Given the description of an element on the screen output the (x, y) to click on. 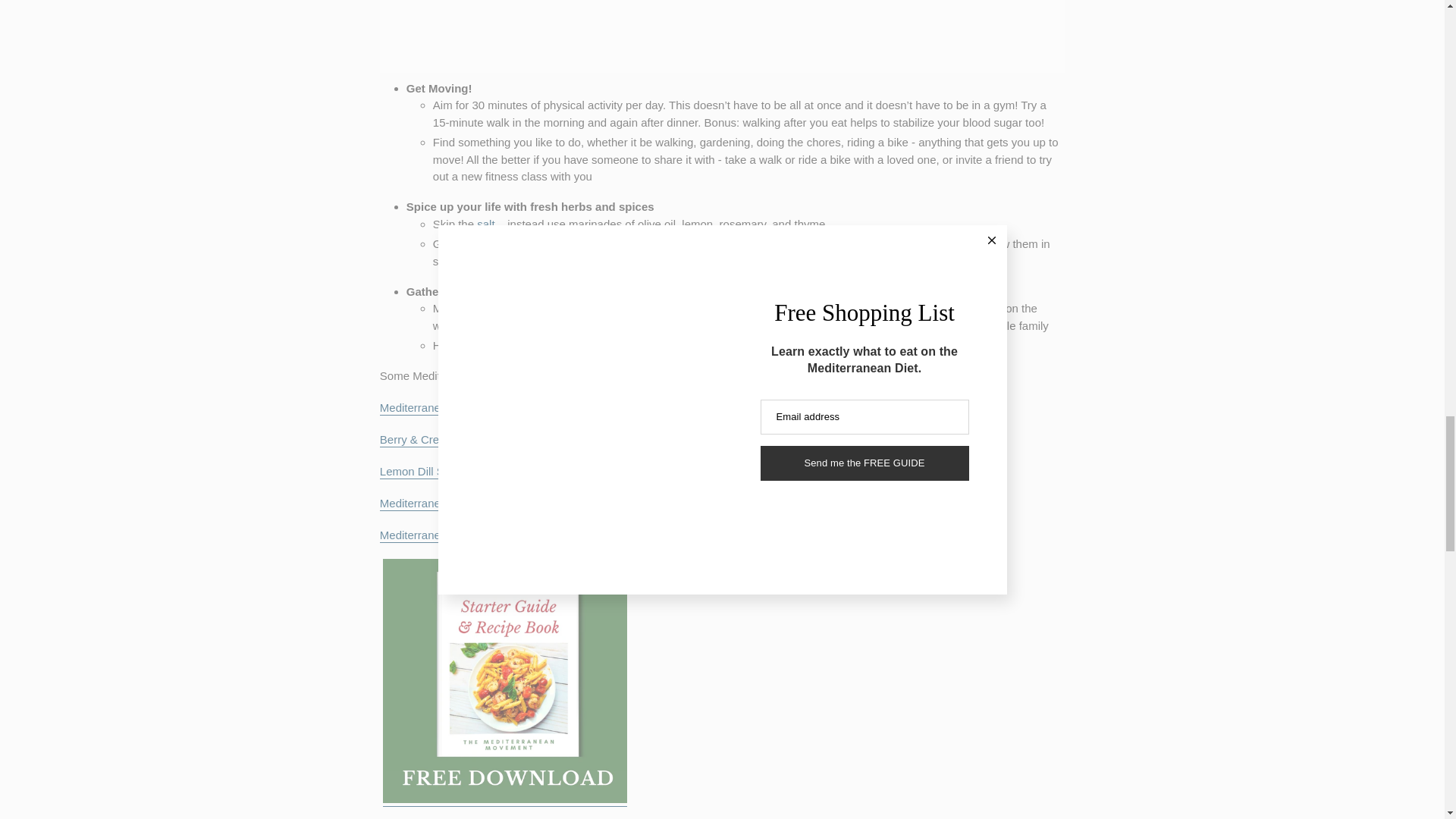
How Much Salt Per Day (487, 224)
Berry And Cream Oatmeal (440, 440)
Mediterranean Egg Muffin Cups (443, 408)
